Given the description of an element on the screen output the (x, y) to click on. 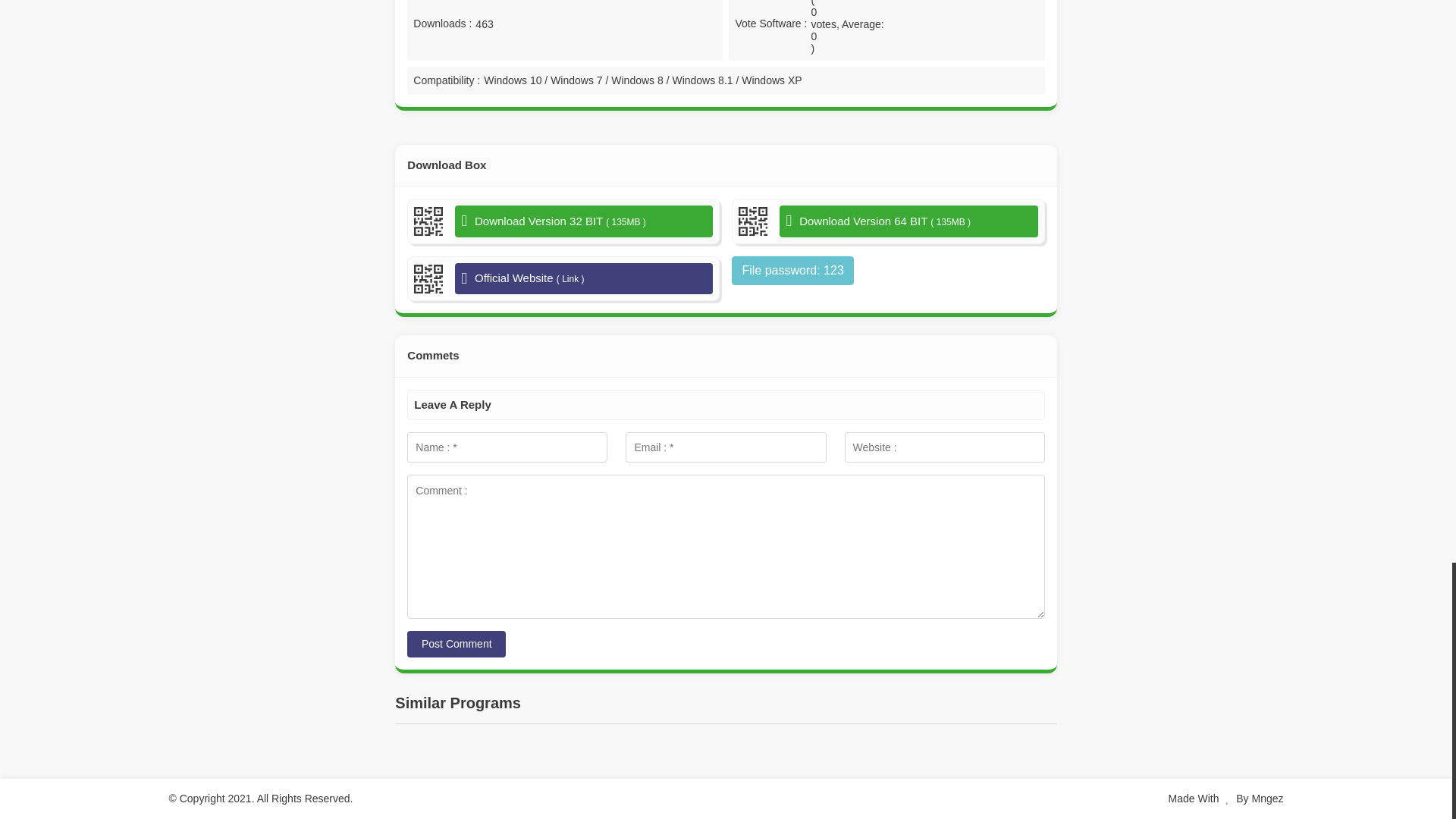
Official Website (583, 278)
Post Comment (456, 643)
Download Version 64 BIT (907, 221)
Download Version 32 BIT (583, 221)
